Given the description of an element on the screen output the (x, y) to click on. 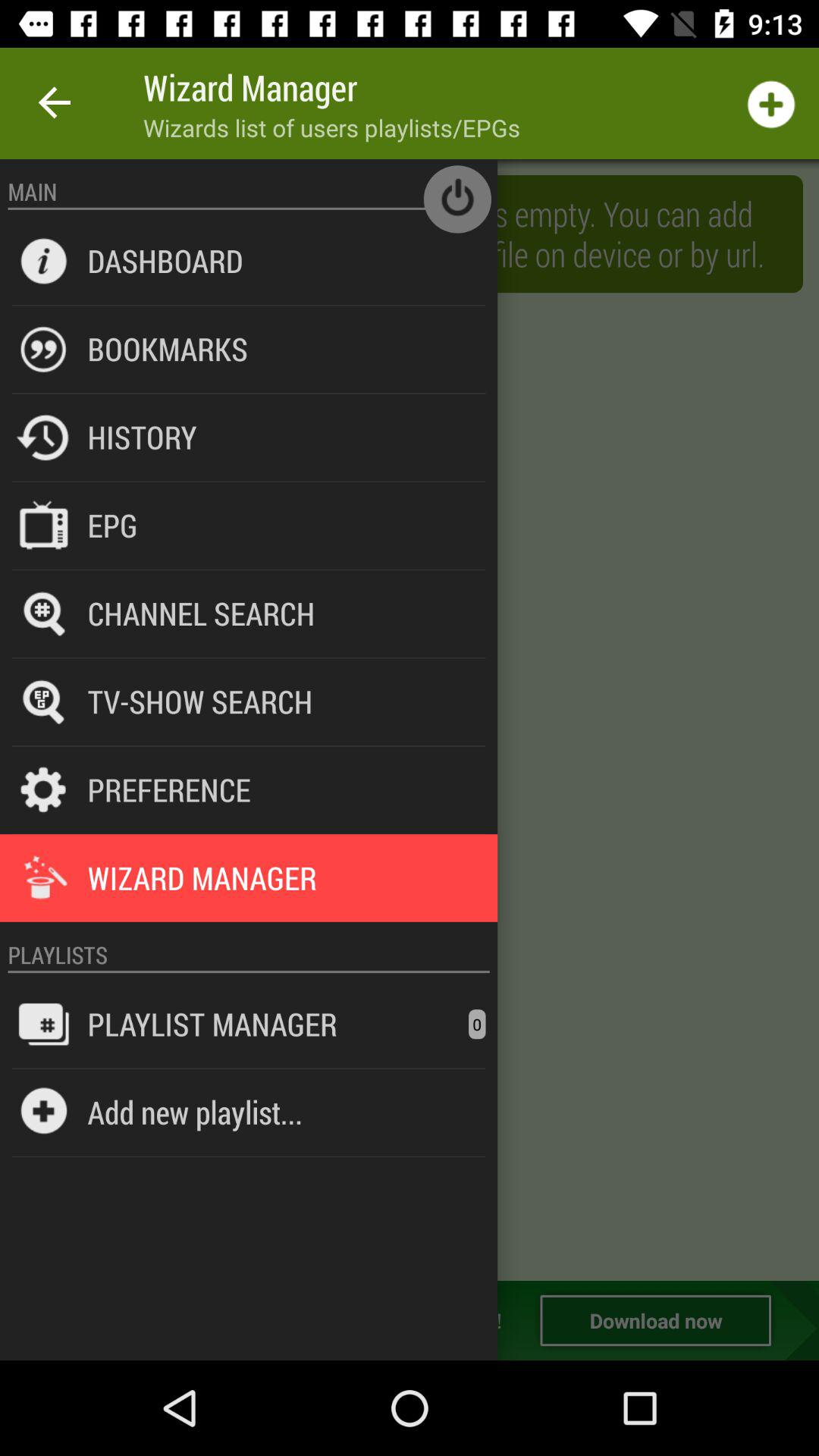
jump until epg (112, 524)
